Given the description of an element on the screen output the (x, y) to click on. 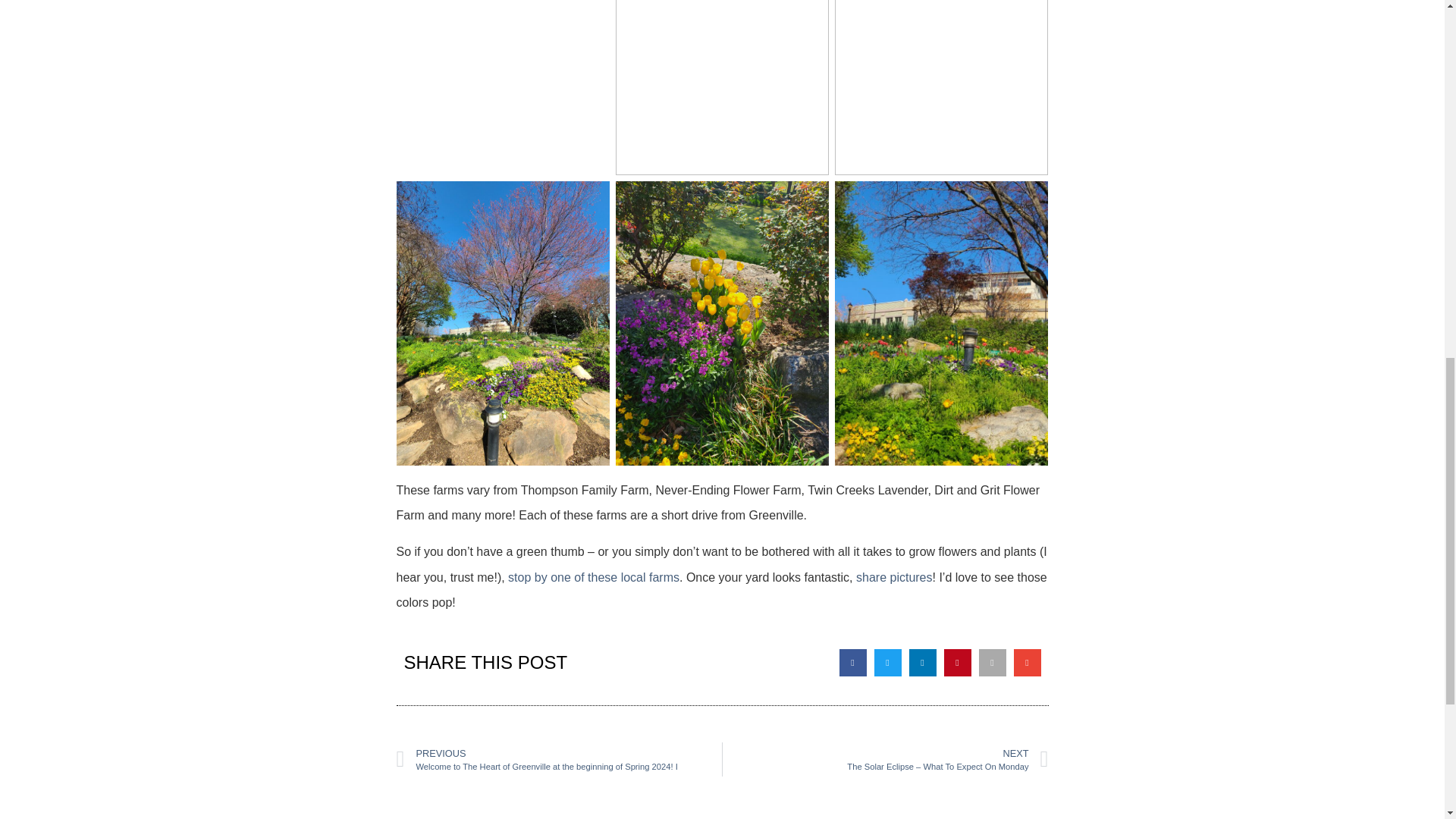
share pictures (894, 576)
stop by one of these local farms (593, 576)
